Given the description of an element on the screen output the (x, y) to click on. 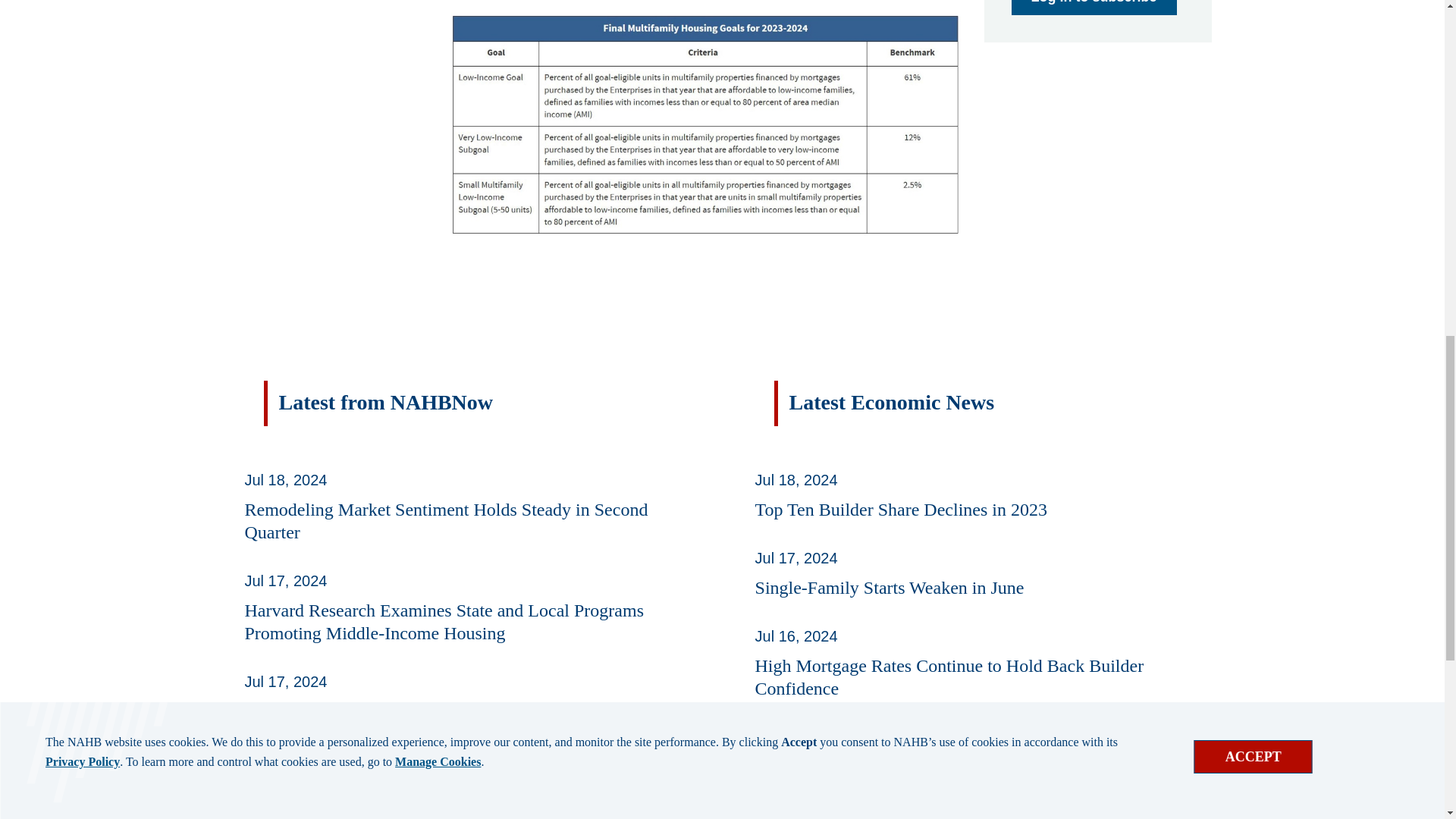
Opens a page (1093, 7)
Opens a page (270, 757)
